Given the description of an element on the screen output the (x, y) to click on. 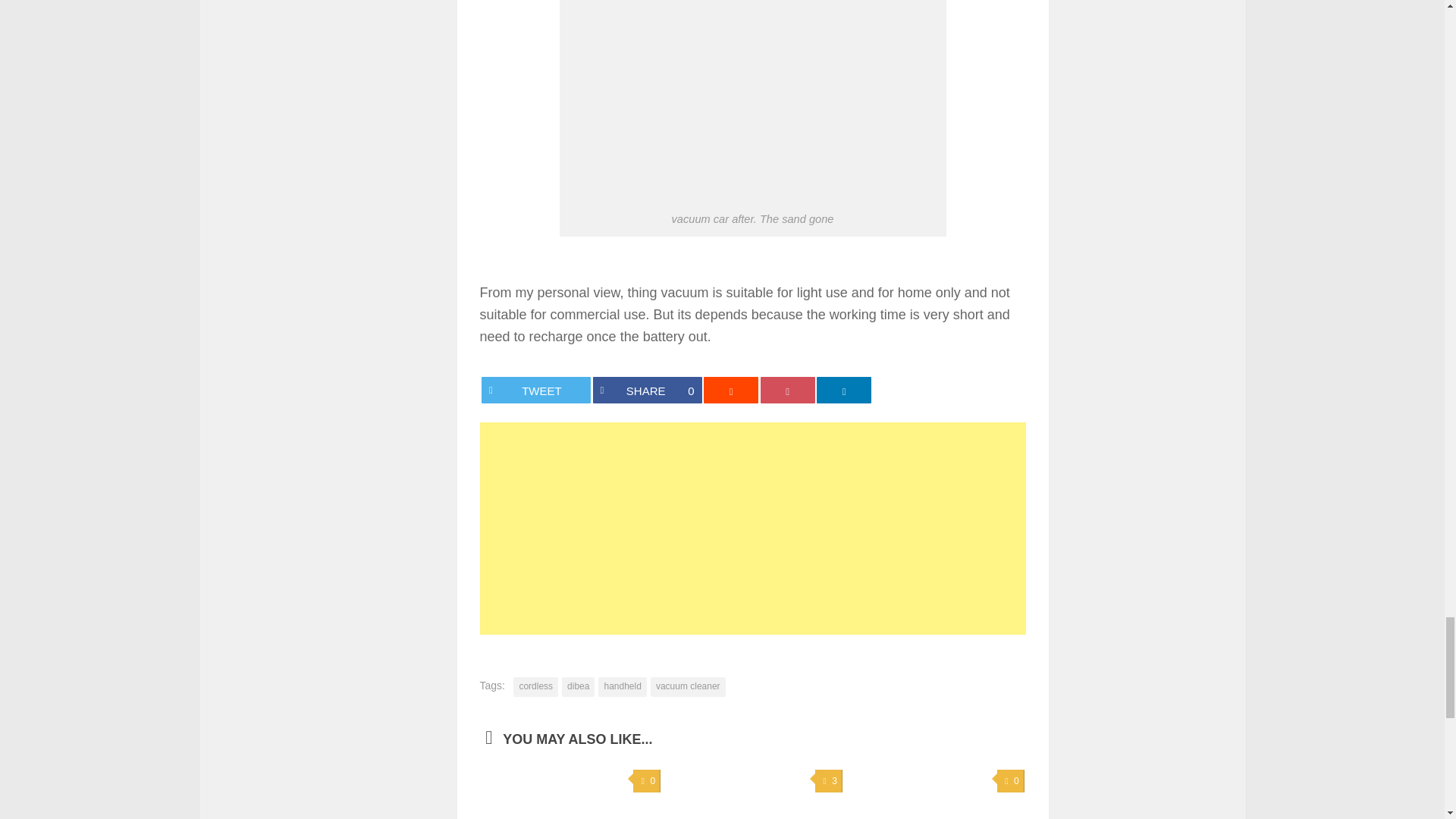
0 (1011, 781)
cordless (535, 686)
Tweet on Twitter (536, 389)
Share on Facebook (646, 389)
Submit to Reddit (730, 389)
vacuum cleaner (687, 686)
handheld (622, 686)
Advertisement (752, 528)
Save to read later on Pocket (786, 389)
3 (829, 781)
